Given the description of an element on the screen output the (x, y) to click on. 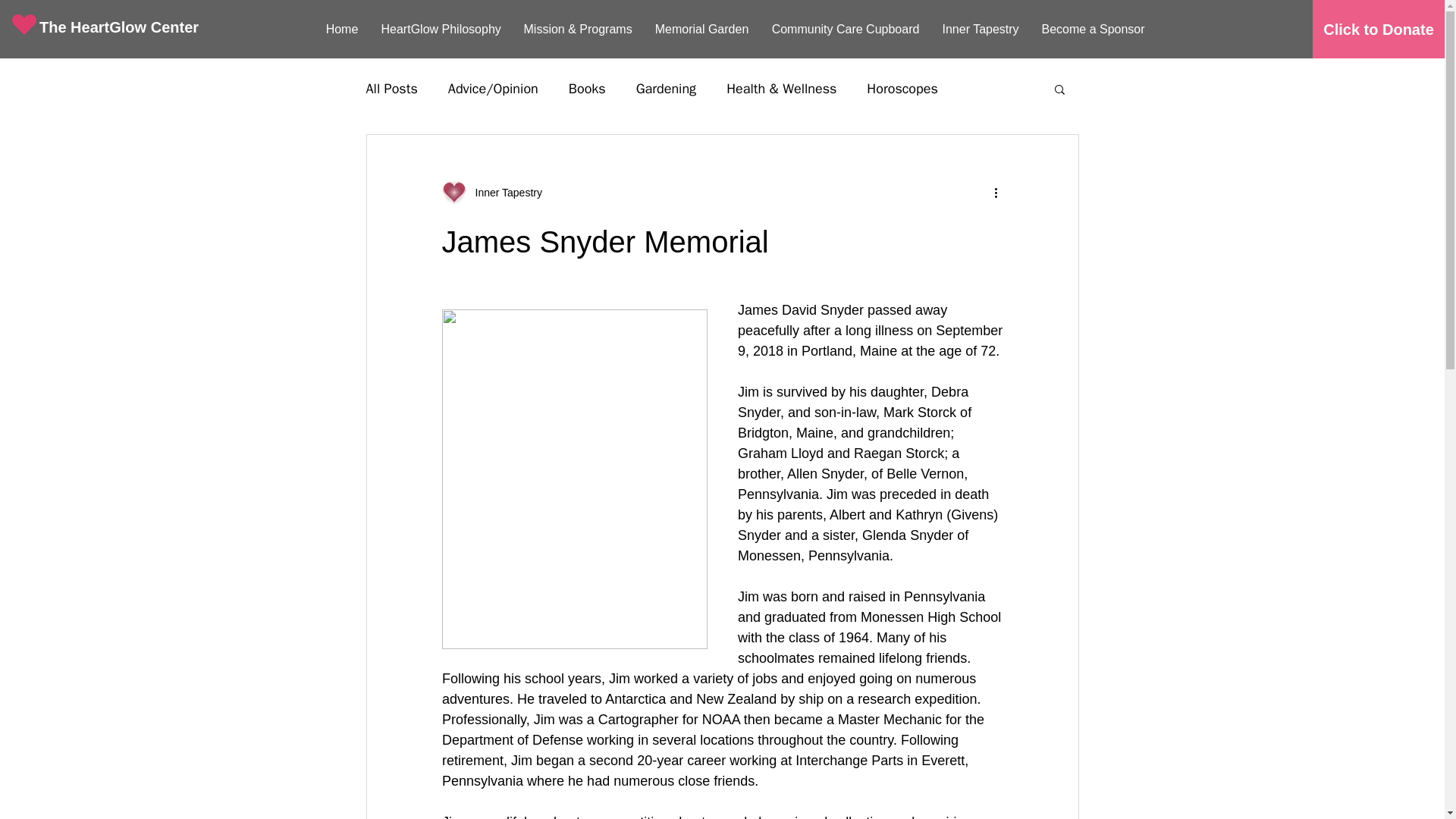
The HeartGlow Center (122, 26)
All Posts (390, 88)
Home (341, 28)
Inner Tapestry (503, 192)
Books (587, 88)
Horoscopes (901, 88)
HeartGlow Philosophy (440, 28)
Inner Tapestry (491, 192)
Inner Tapestry (980, 28)
Memorial Garden (701, 28)
